Given the description of an element on the screen output the (x, y) to click on. 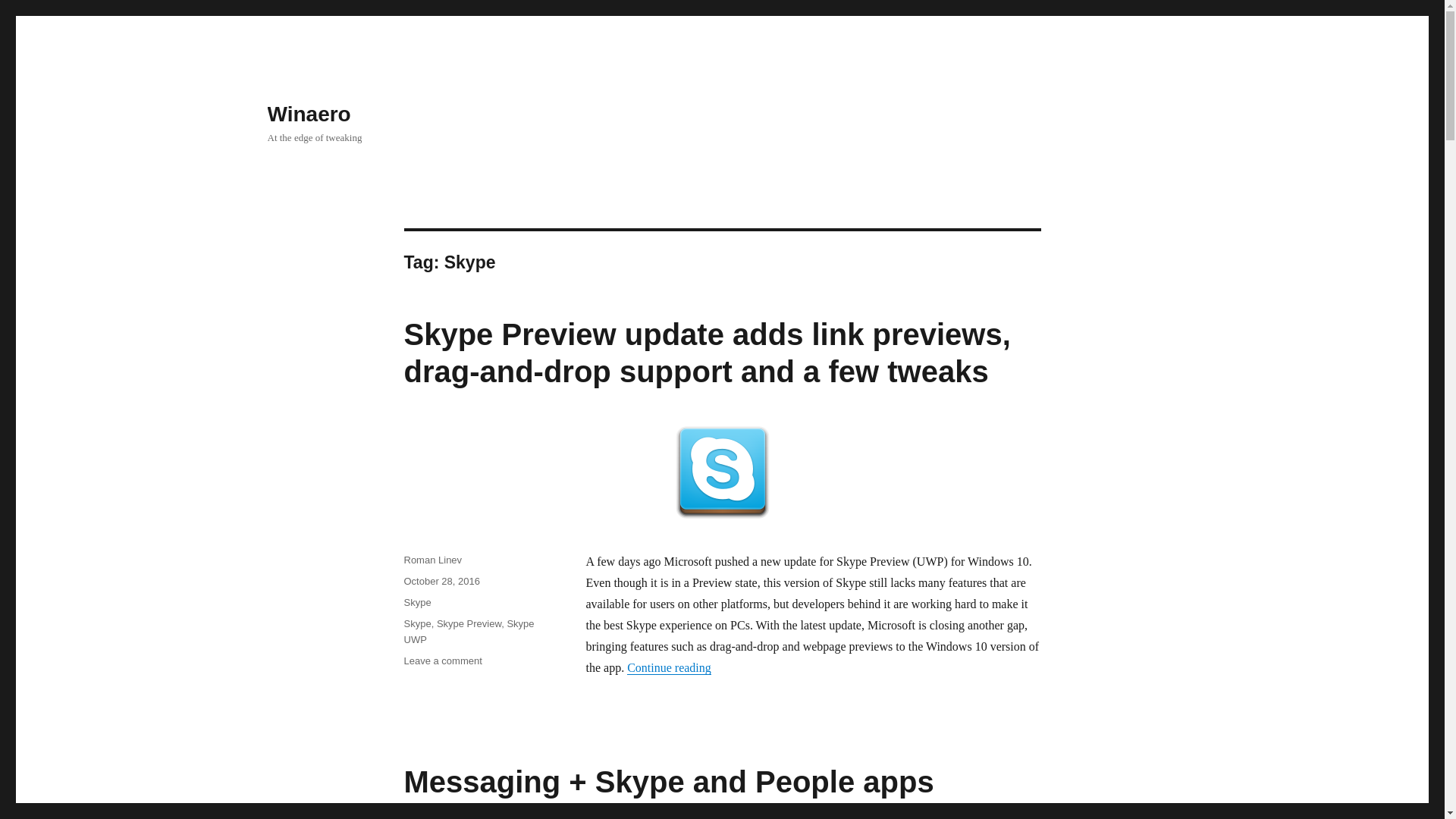
Roman Linev (432, 559)
Skype (416, 602)
Winaero (308, 114)
Skype UWP (468, 631)
Skype Preview (468, 623)
Skype (416, 623)
October 28, 2016 (441, 581)
